Given the description of an element on the screen output the (x, y) to click on. 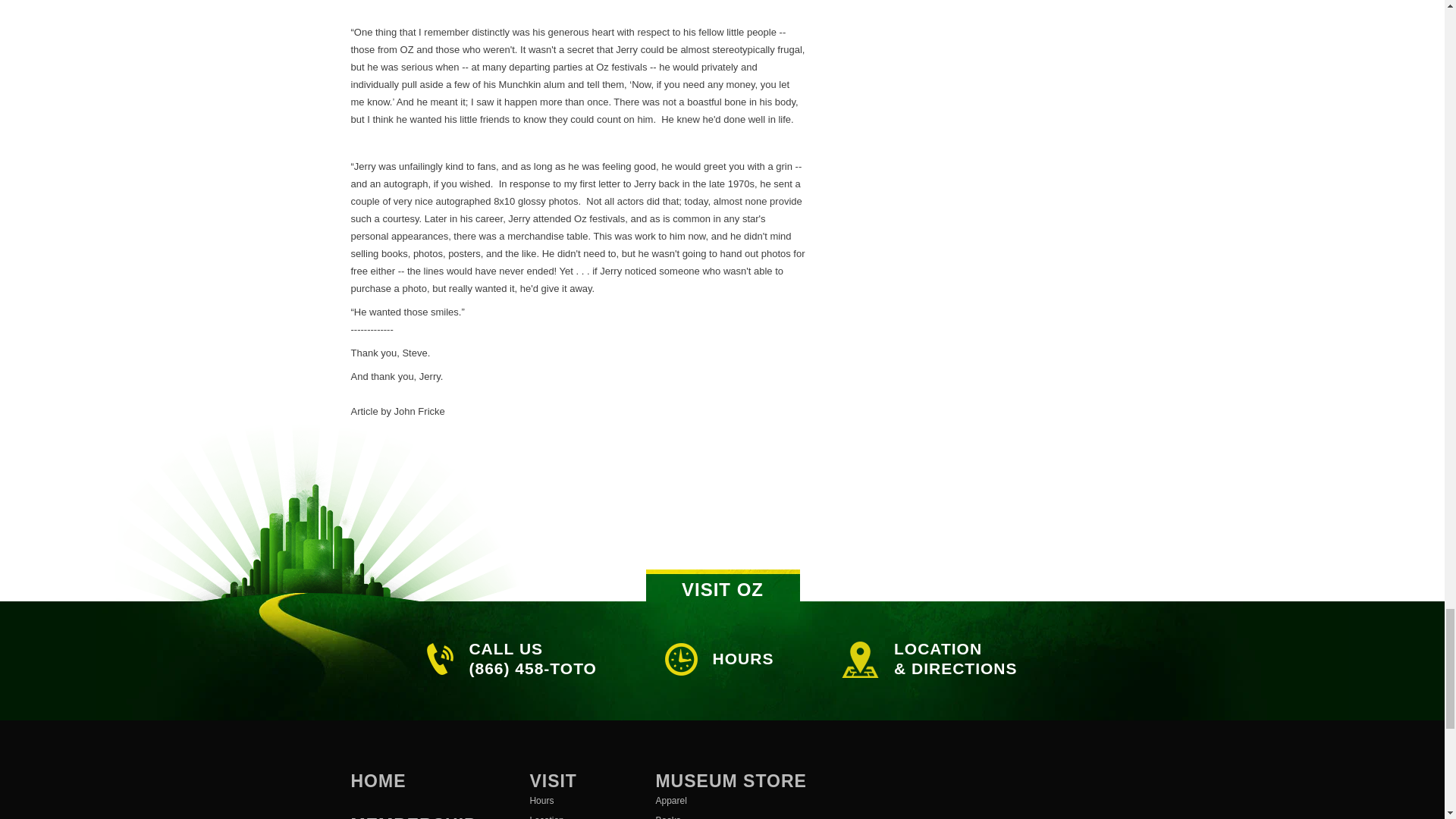
Hours (565, 800)
MUSEUM STORE (730, 781)
VISIT (552, 781)
MEMBERSHIP (413, 816)
VISIT OZ (722, 585)
Location (565, 814)
Apparel (730, 800)
 HOURS (718, 659)
Books (730, 814)
HOME (378, 781)
